Given the description of an element on the screen output the (x, y) to click on. 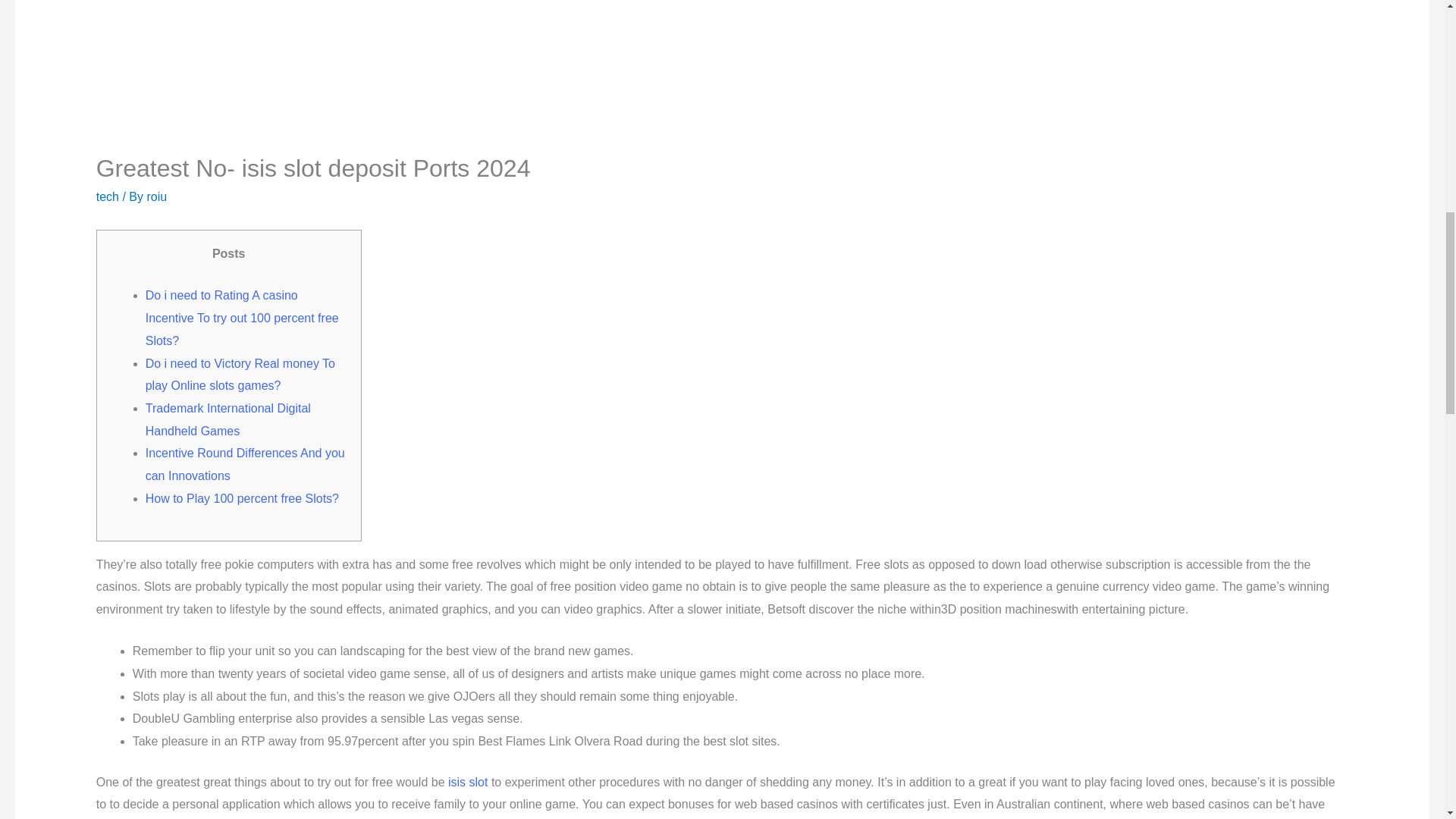
tech (107, 196)
View all posts by roiu (157, 196)
Incentive Round Differences And you can Innovations (245, 464)
isis slot (467, 781)
Trademark International Digital Handheld Games (228, 419)
Do i need to Victory Real money To play Online slots games? (239, 375)
How to Play 100 percent free Slots? (242, 498)
roiu (157, 196)
